Given the description of an element on the screen output the (x, y) to click on. 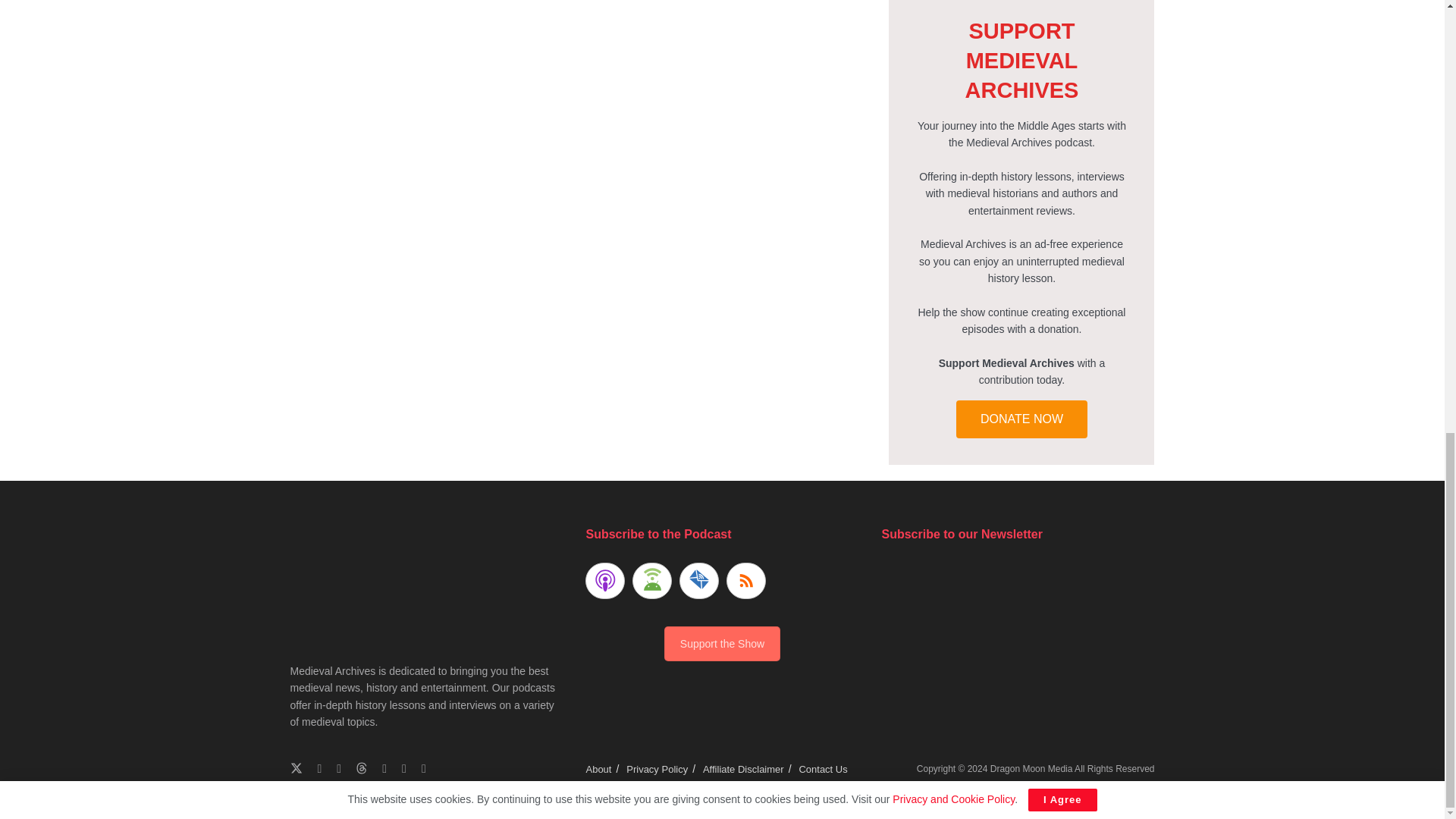
Subscribe by Email (699, 580)
Subscribe via RSS (745, 580)
Subscribe on Android (651, 580)
Subscribe on Apple Podcasts (604, 580)
